Given the description of an element on the screen output the (x, y) to click on. 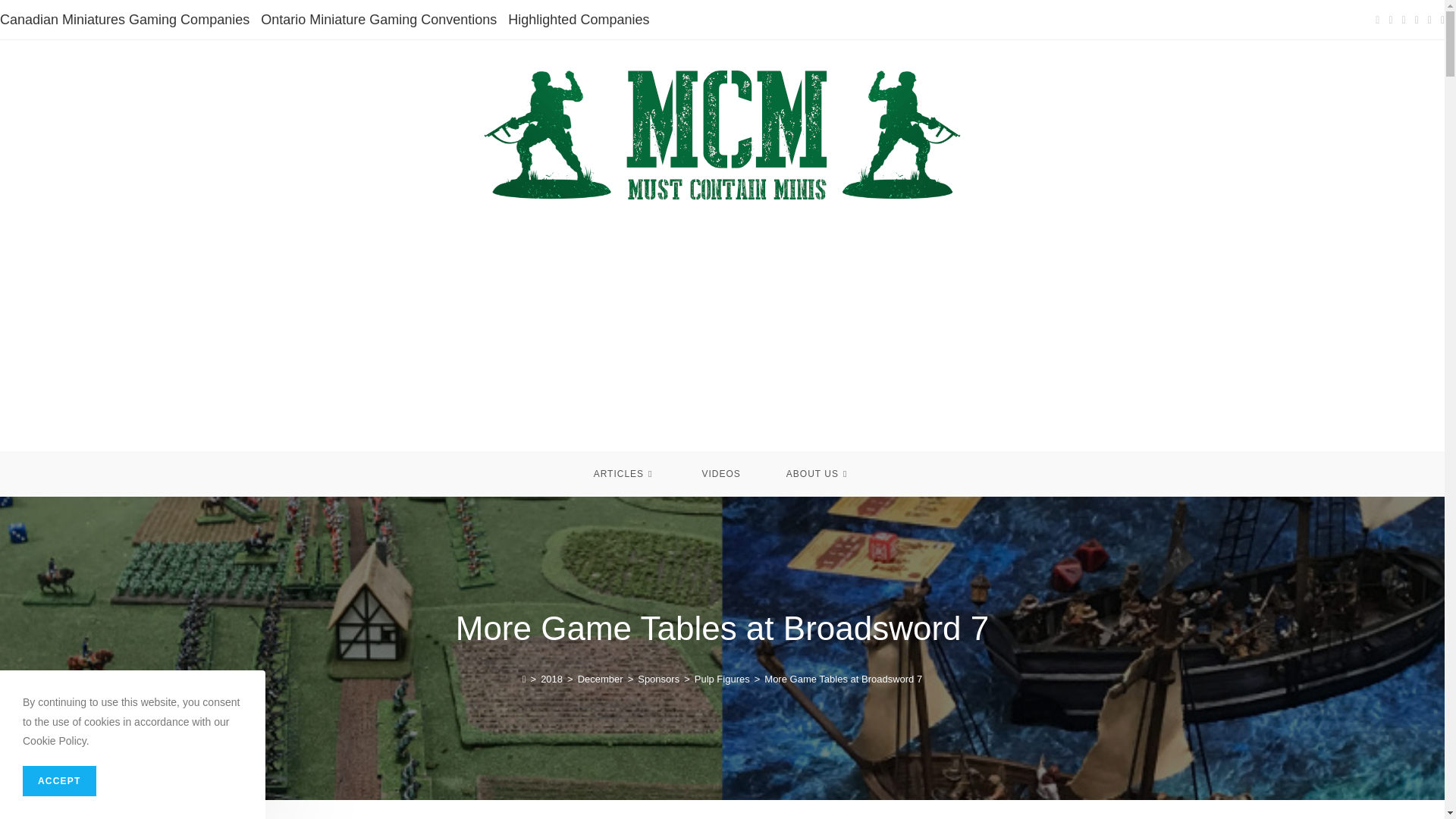
Highlighted Companies (578, 19)
Canadian Miniatures Gaming Companies (124, 19)
ABOUT US (818, 473)
VIDEOS (720, 473)
Ontario Miniature Gaming Conventions (378, 19)
ARTICLES (624, 473)
